Given the description of an element on the screen output the (x, y) to click on. 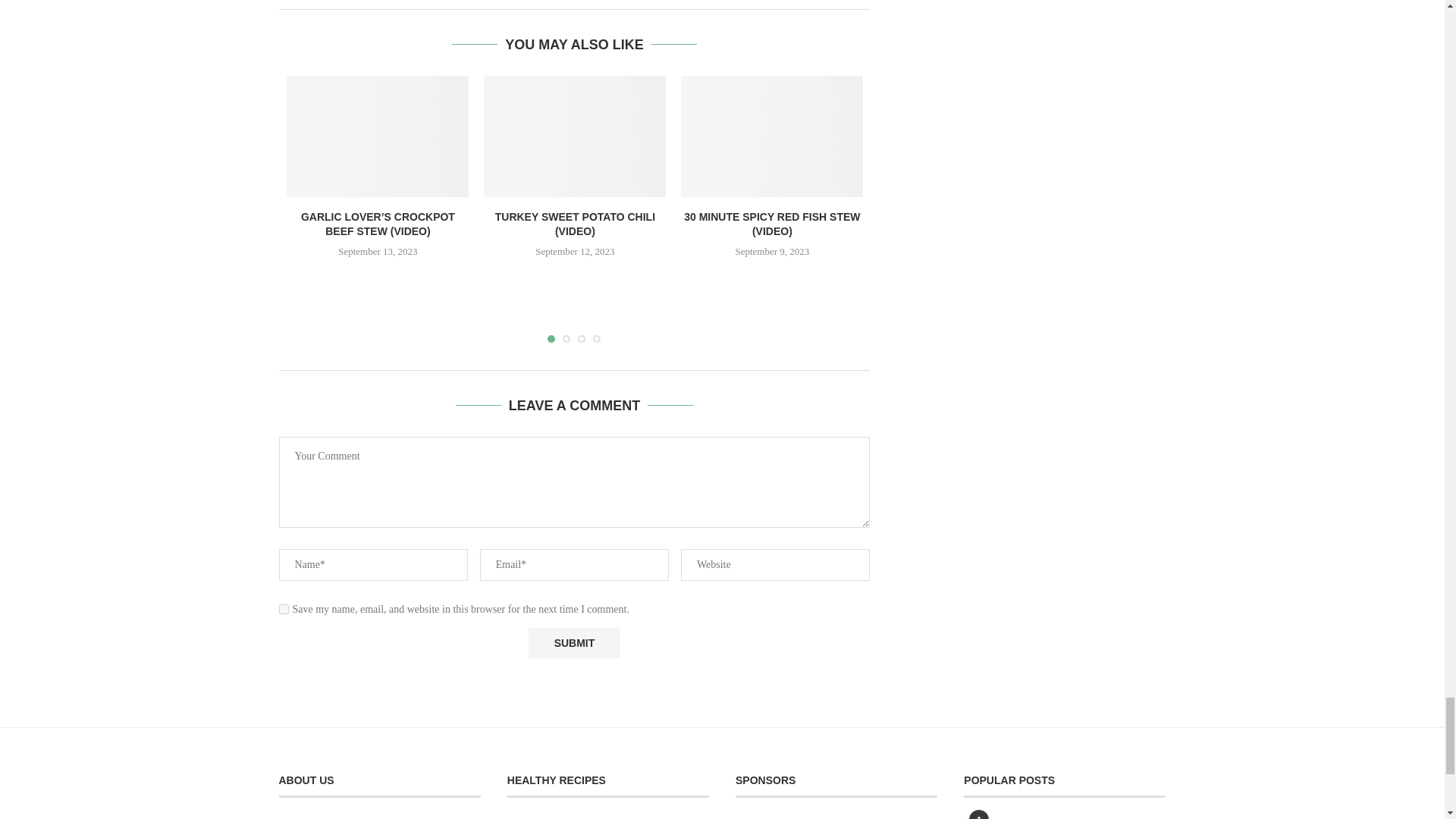
Submit (574, 643)
yes (283, 609)
